Given the description of an element on the screen output the (x, y) to click on. 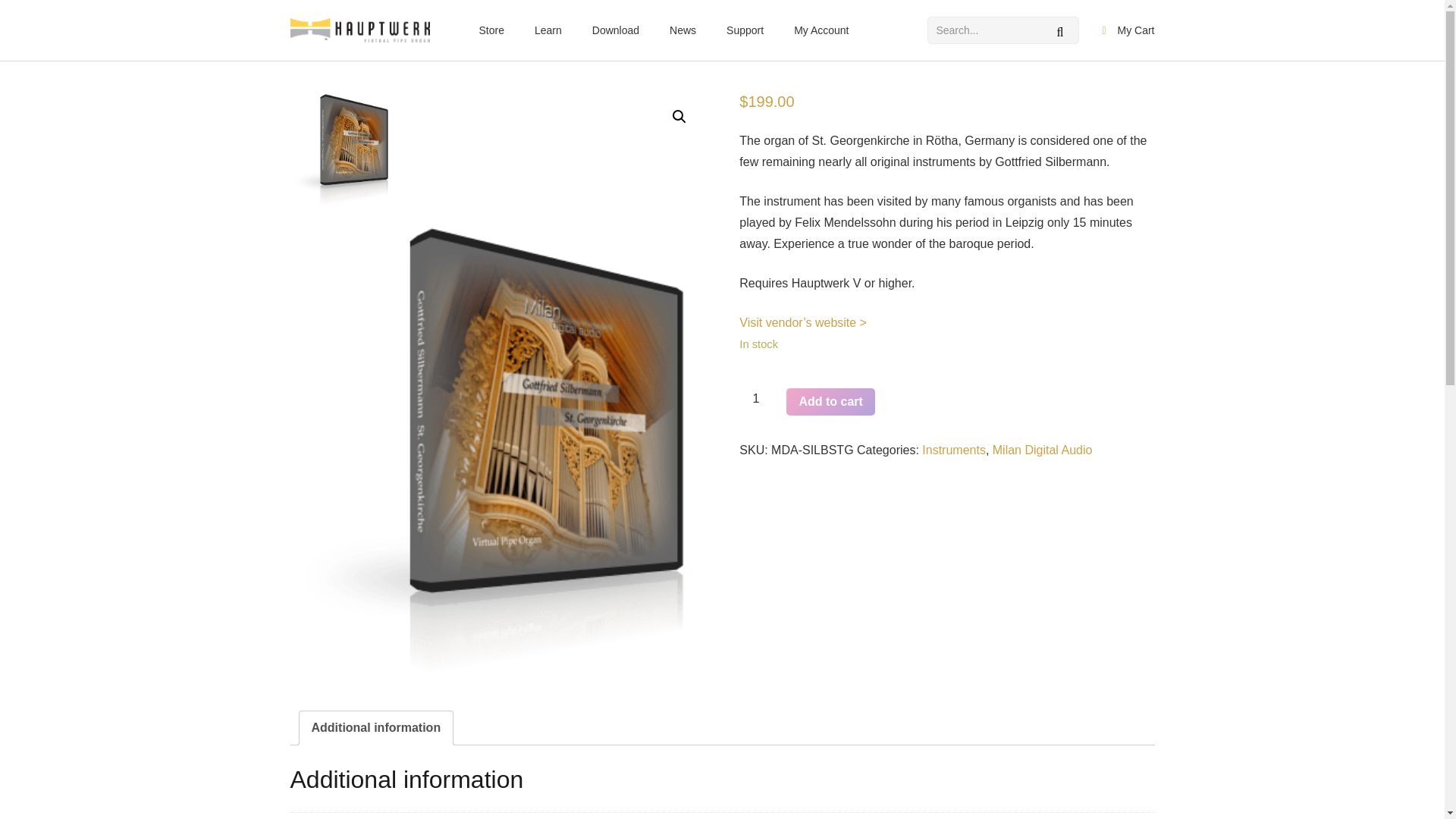
DVD-box-StGeorge (341, 149)
Store (491, 30)
Support (744, 30)
News (682, 30)
1 (761, 398)
Download (614, 30)
Learn (547, 30)
My Account (820, 30)
